Given the description of an element on the screen output the (x, y) to click on. 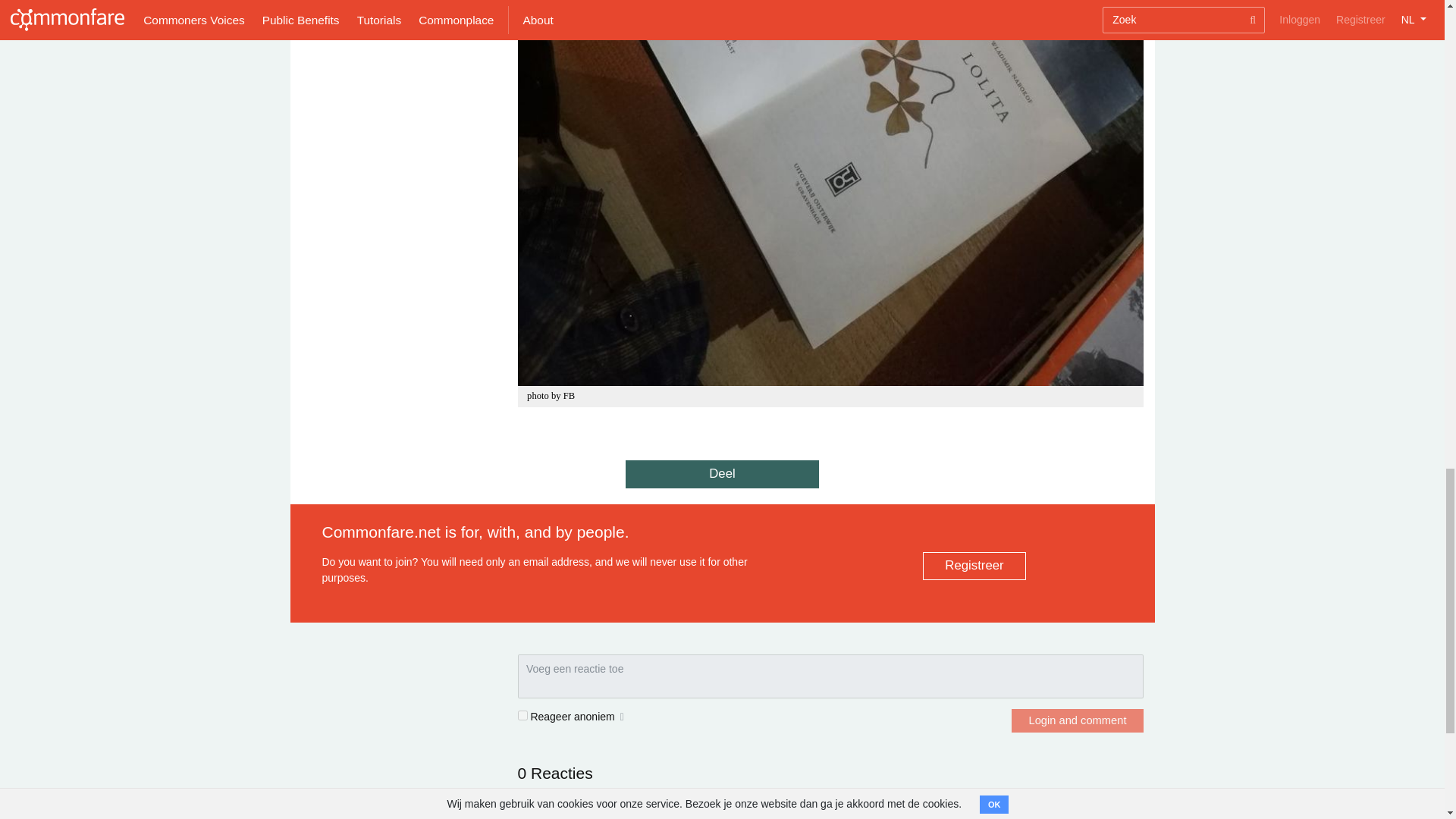
Login and comment (1076, 720)
Registreer (974, 565)
Deel (722, 474)
1 (521, 715)
Login and comment (1076, 720)
